Given the description of an element on the screen output the (x, y) to click on. 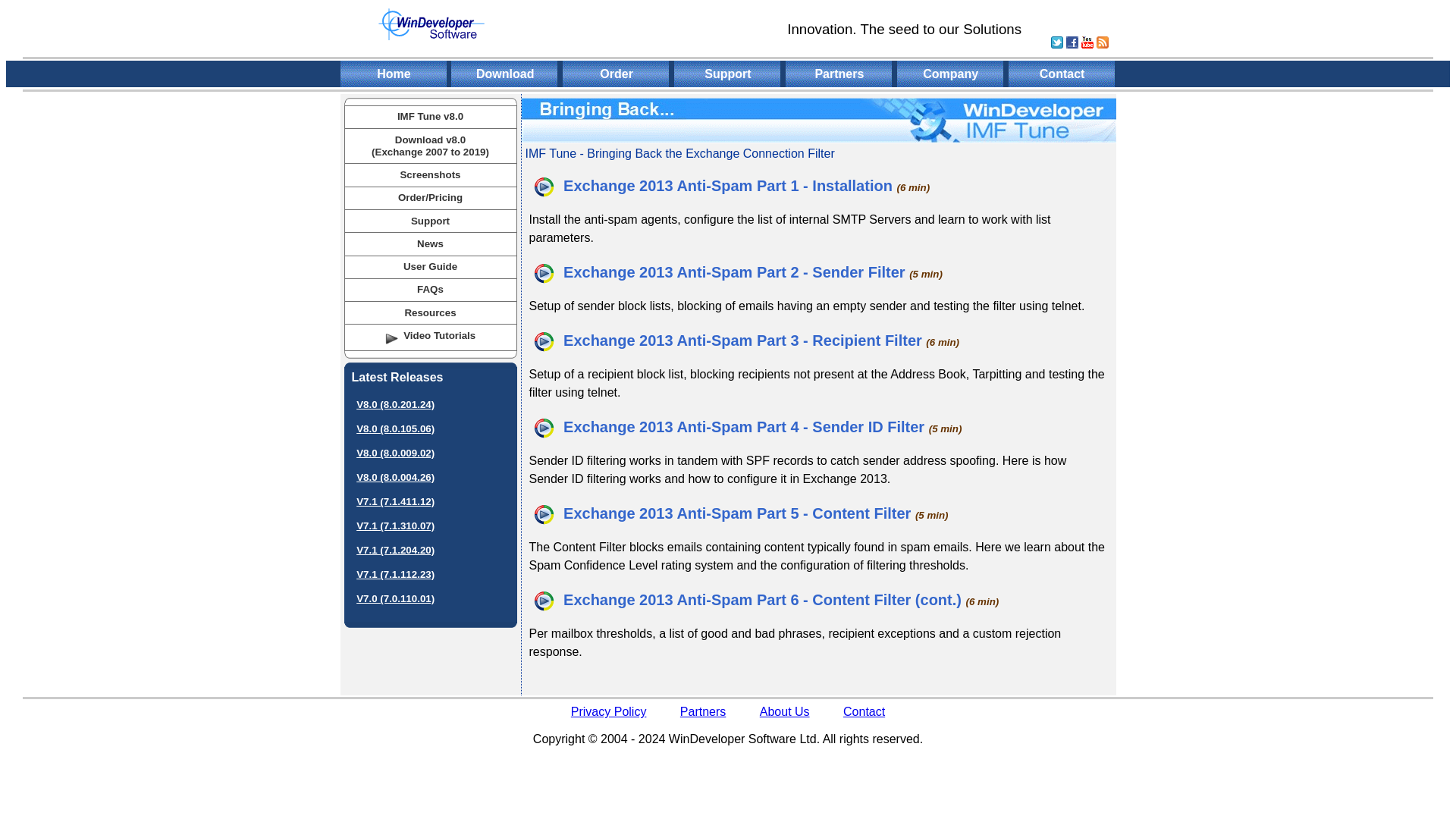
Contact (1061, 73)
User Guide (430, 266)
Support (727, 73)
FAQs (430, 288)
Screenshots (429, 174)
Exchange 2013 Anti-Spam Part 1 - Installation (710, 185)
Partners (702, 711)
Privacy Policy (608, 711)
Exchange 2013 Anti-Spam Part 4 - Sender ID Filter (726, 426)
Home (393, 73)
